Given the description of an element on the screen output the (x, y) to click on. 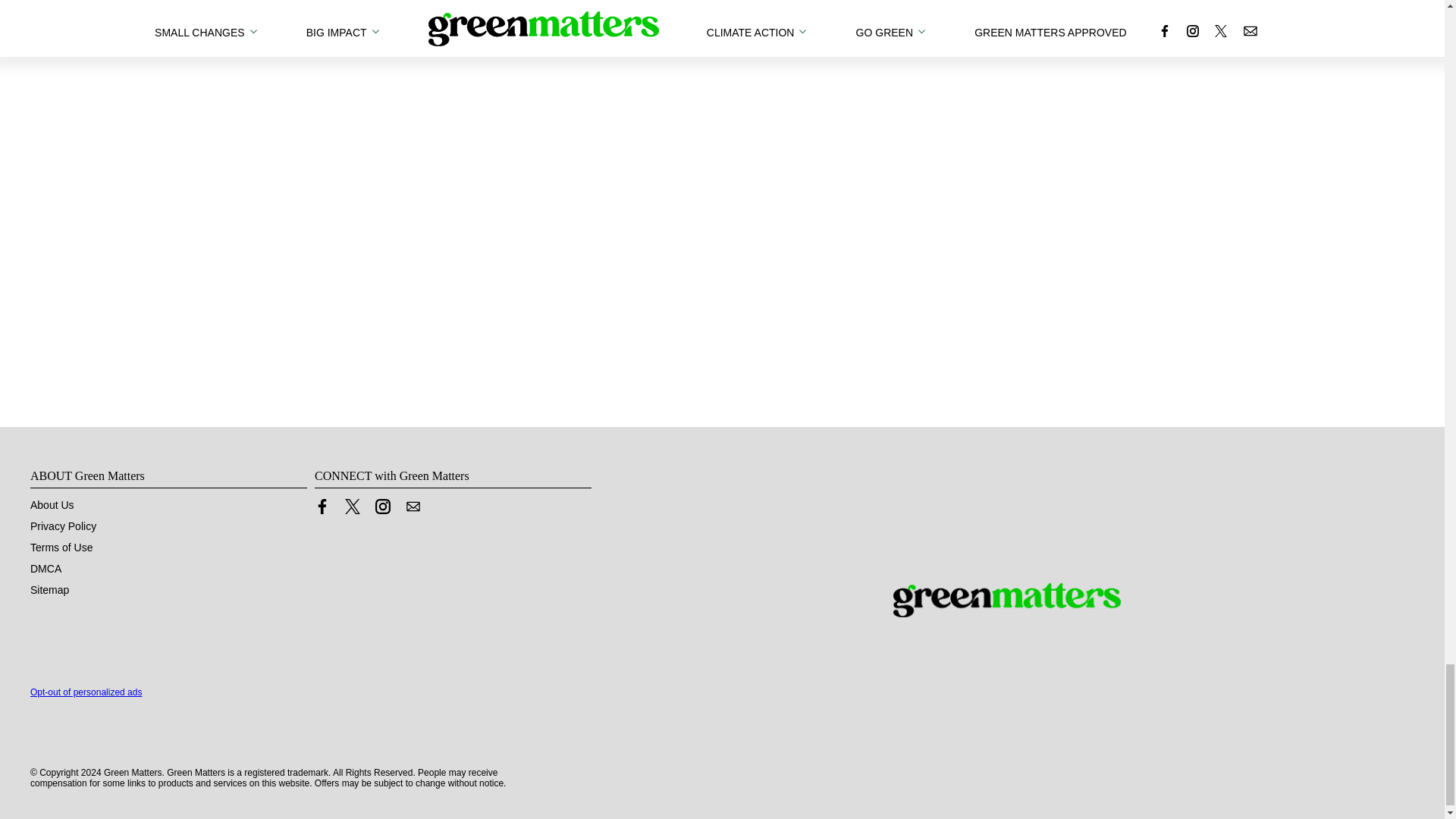
Link to Facebook (322, 506)
Sitemap (49, 589)
Link to X (352, 506)
Terms of Use (61, 547)
Link to Instagram (382, 506)
DMCA (45, 568)
Privacy Policy (63, 526)
About Us (52, 504)
Contact us by Email (413, 506)
